Given the description of an element on the screen output the (x, y) to click on. 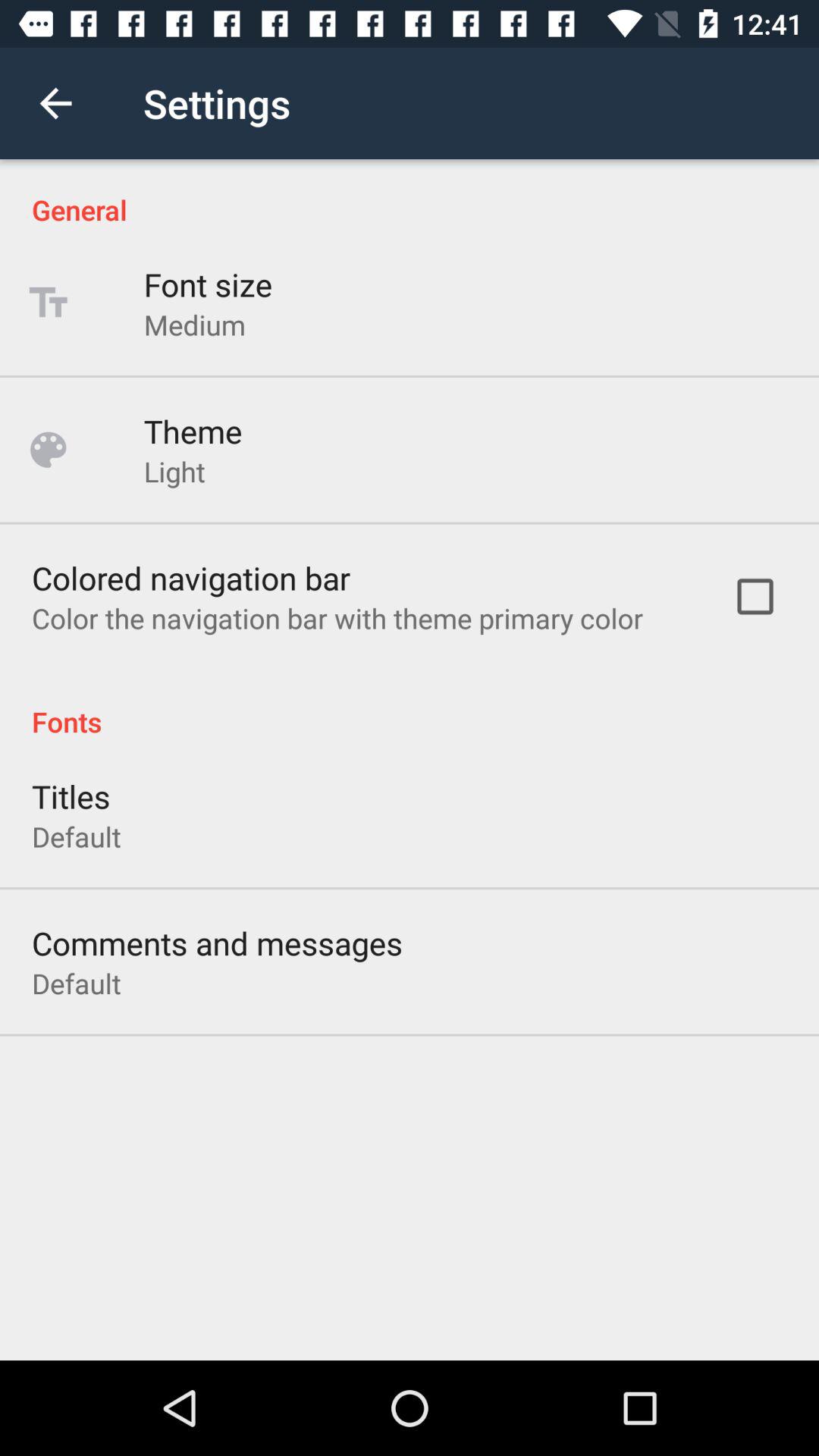
flip to the titles (70, 795)
